Given the description of an element on the screen output the (x, y) to click on. 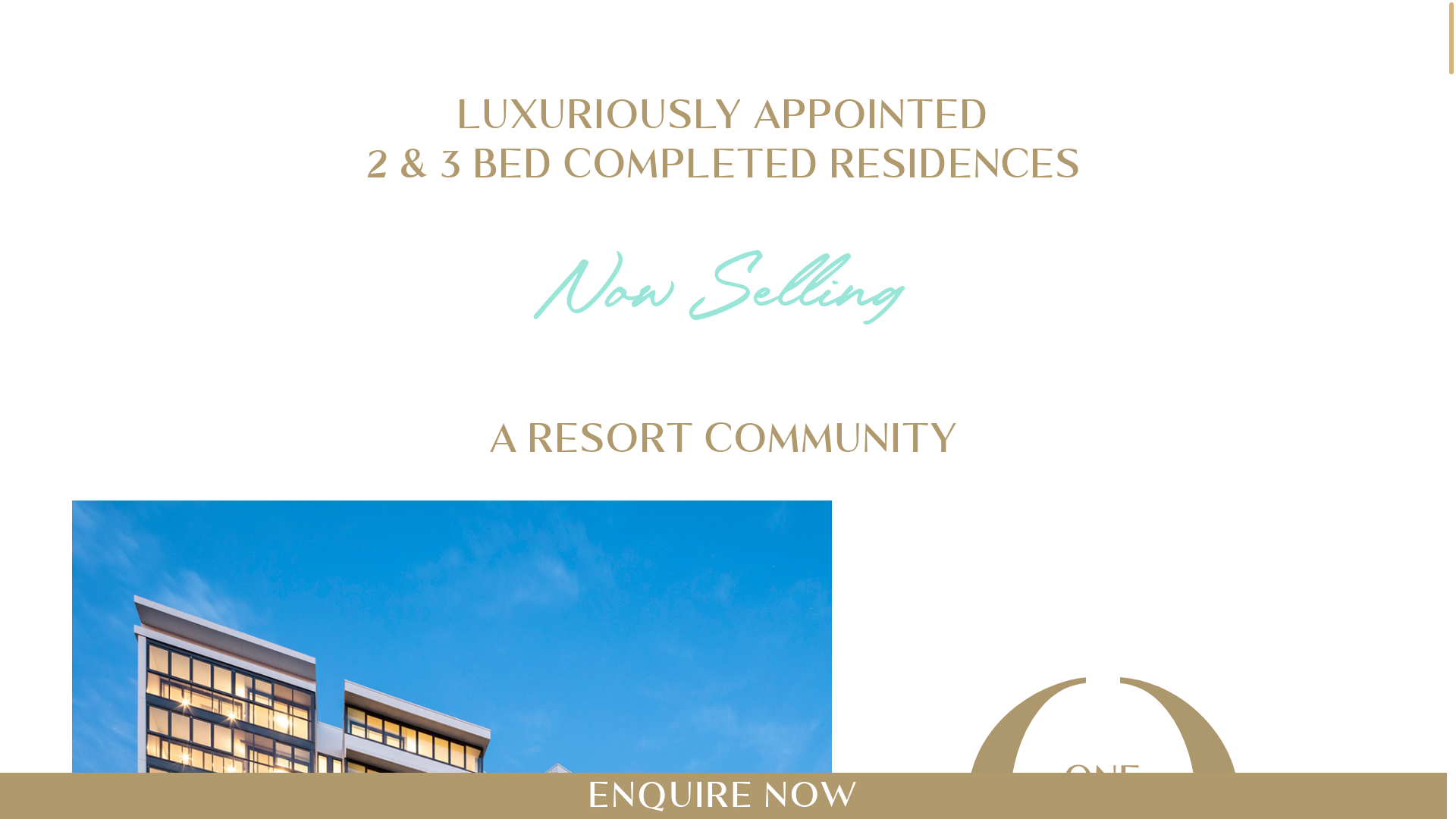
ENQUIRE NOW Element type: text (723, 795)
